Given the description of an element on the screen output the (x, y) to click on. 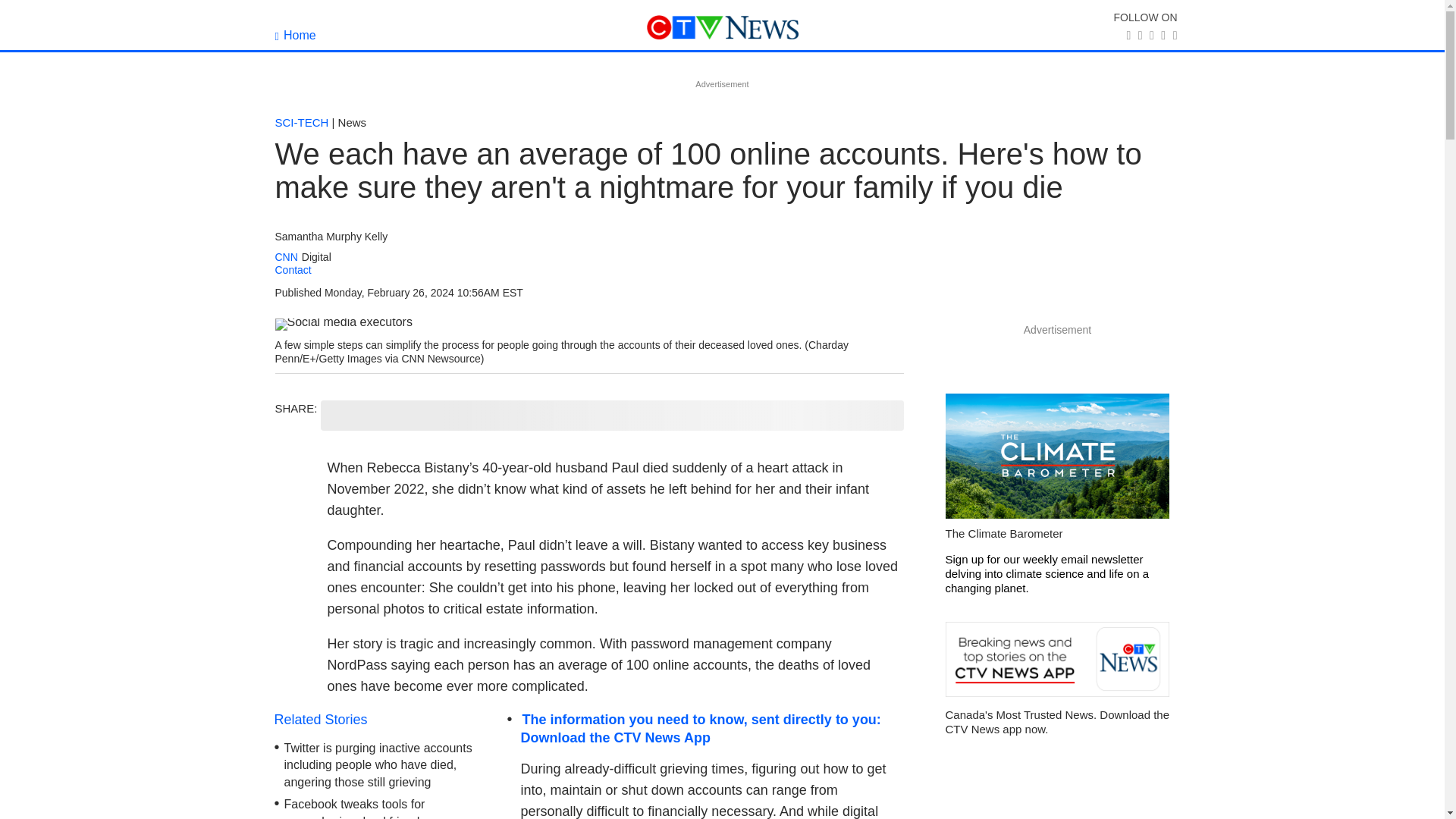
Social media executors (343, 324)
Home (295, 34)
Contact (293, 269)
CNN (286, 256)
Facebook tweaks tools for remembering dead friends (354, 808)
SCI-TECH (302, 122)
The Climate Barometer  (1057, 456)
